Given the description of an element on the screen output the (x, y) to click on. 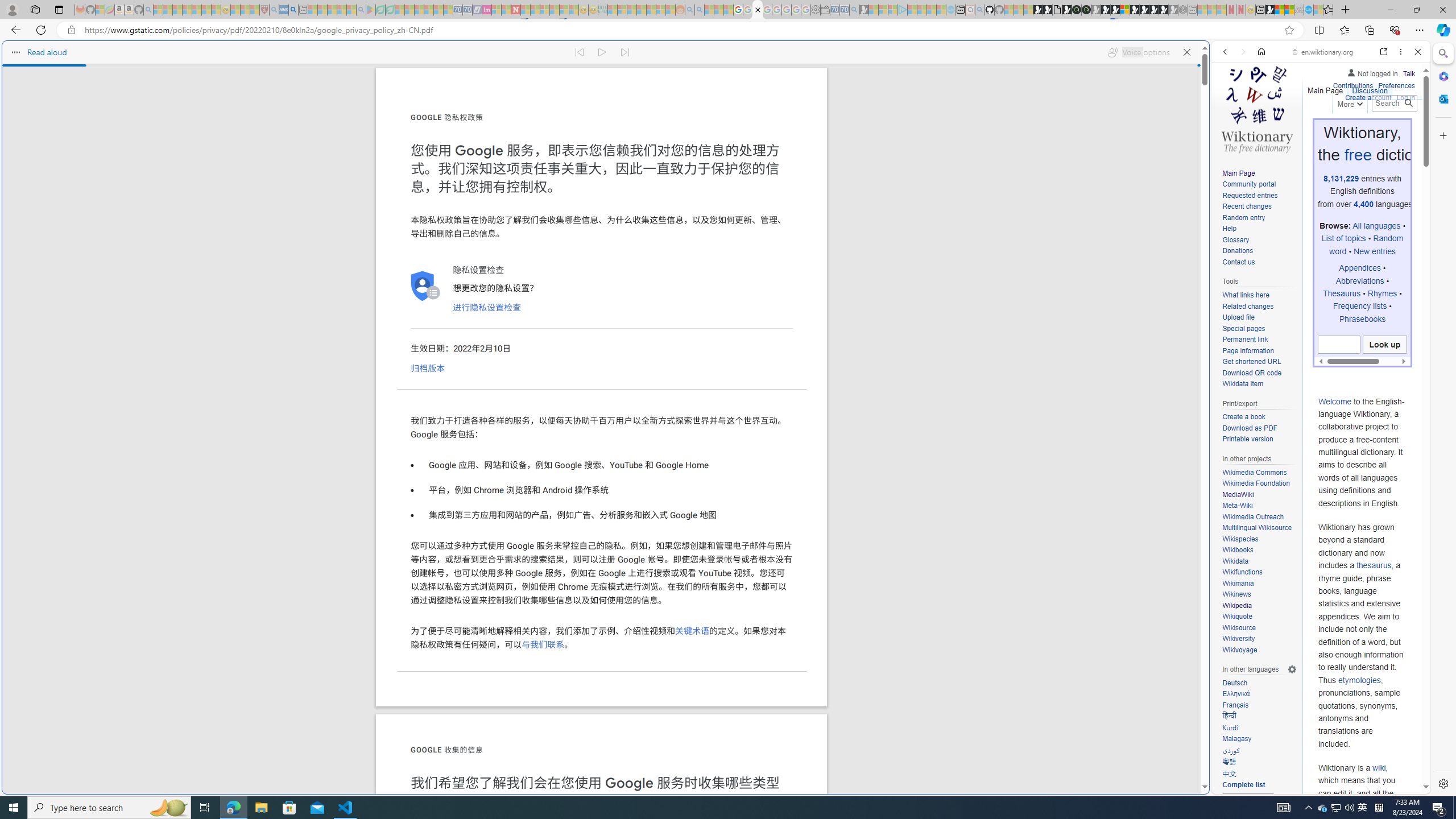
Recent changes (1259, 206)
Search or enter web address (922, 108)
Get shortened URL (1251, 361)
New Report Confirms 2023 Was Record Hot | Watch - Sleeping (196, 9)
Discussion (1369, 87)
Multilingual Wikisource (1256, 528)
Search Filter, Search Tools (1350, 129)
